Given the description of an element on the screen output the (x, y) to click on. 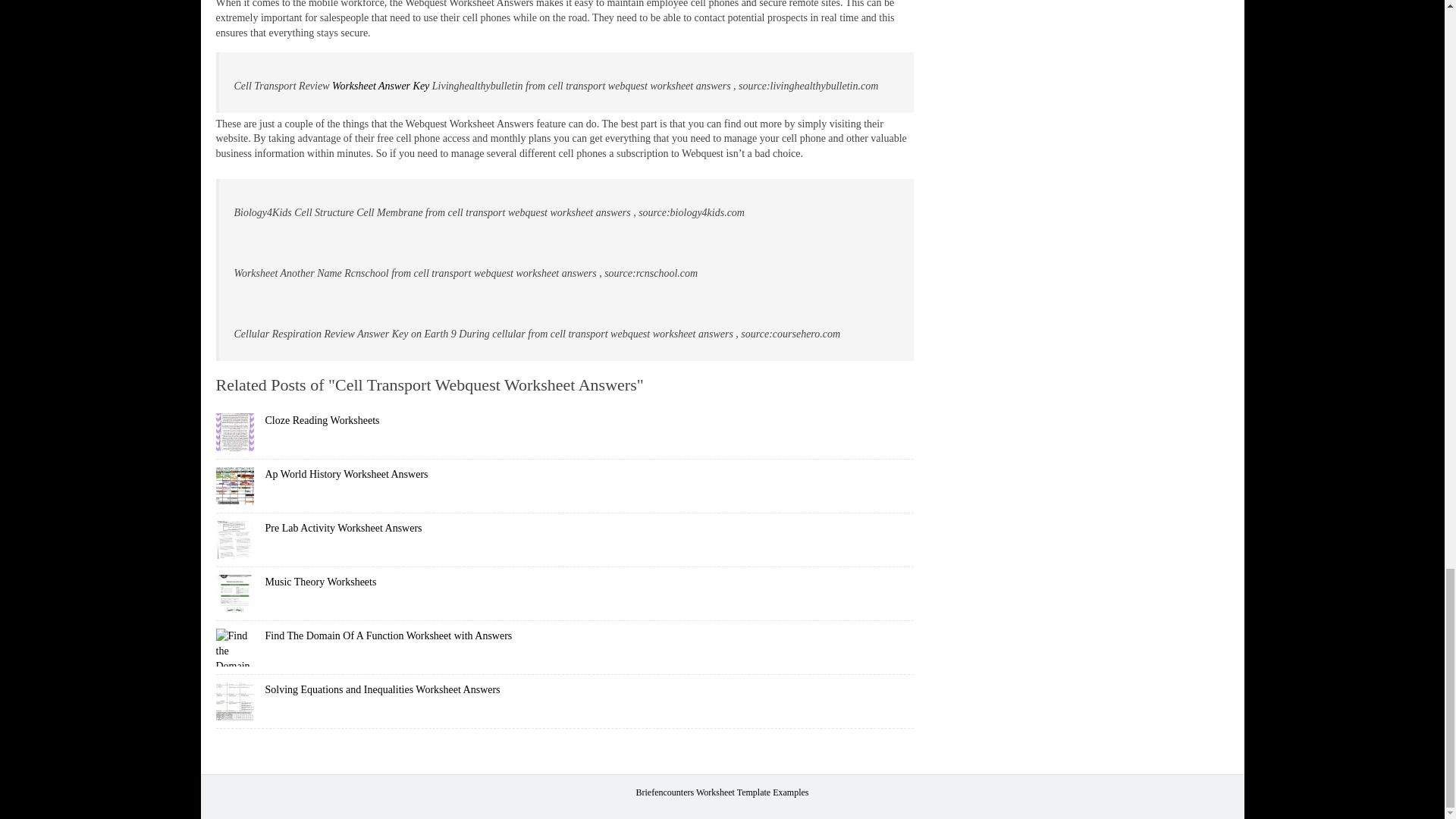
Cloze Reading Worksheets (322, 419)
Solving Equations and Inequalities Worksheet Answers (382, 689)
Ap World History Worksheet Answers (346, 473)
Pre Lab Activity Worksheet Answers (343, 527)
Find The Domain Of A Function Worksheet with Answers (388, 635)
Briefencounters Worksheet Template Examples (721, 792)
Music Theory Worksheets (320, 582)
Worksheet Answer Key (380, 85)
